Given the description of an element on the screen output the (x, y) to click on. 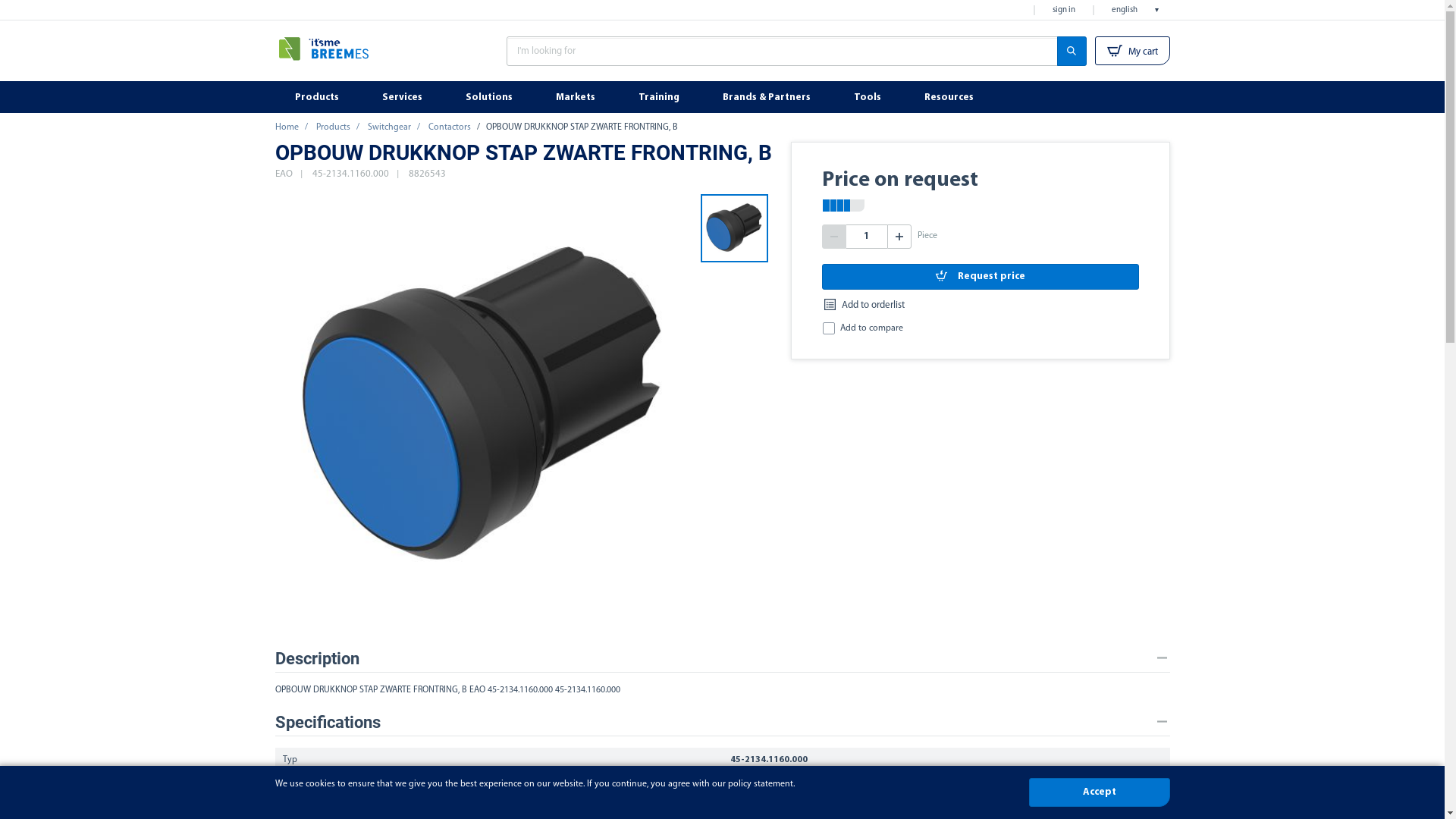
Markets Element type: text (576, 96)
Training Element type: text (660, 96)
Products Element type: text (317, 96)
sign in Element type: text (1063, 10)
Breemes Element type: hover (347, 54)
Brands & Partners Element type: text (767, 96)
Services Element type: text (403, 96)
Switchgear Element type: text (388, 126)
Resources Element type: text (949, 96)
Accept Element type: text (1098, 792)
Solutions Element type: text (490, 96)
Add to orderlist Element type: text (863, 305)
Description Element type: text (721, 657)
Contactors Element type: text (448, 126)
My cart Element type: text (1132, 50)
Add to compare Element type: text (871, 327)
Specifications Element type: text (721, 721)
Products Element type: text (332, 126)
Home Element type: text (286, 126)
Tools Element type: text (869, 96)
Request price Element type: text (980, 275)
